Given the description of an element on the screen output the (x, y) to click on. 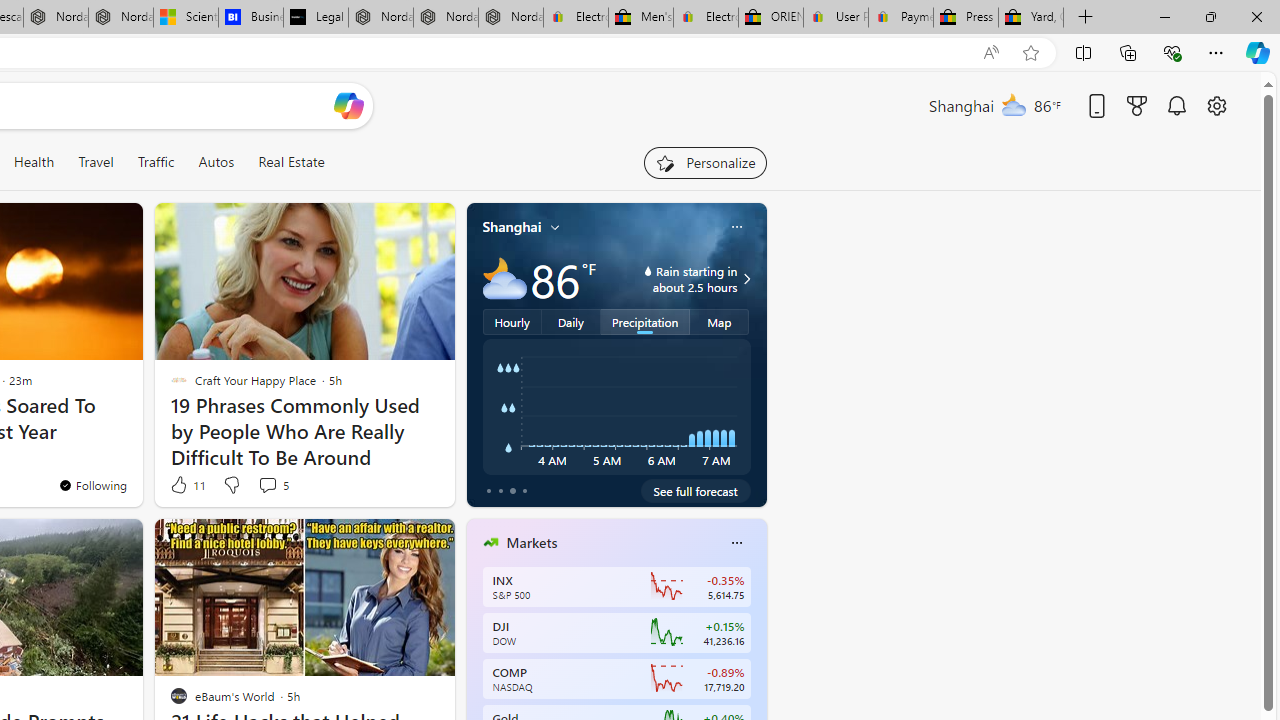
next (756, 670)
Hide this story (393, 542)
water-drop-icon (648, 270)
Autos (216, 162)
My location (555, 227)
Rain starting in about 2.5 hours (744, 278)
tab-3 (524, 490)
Travel (95, 162)
Hourly (511, 321)
Microsoft rewards (1137, 105)
